Given the description of an element on the screen output the (x, y) to click on. 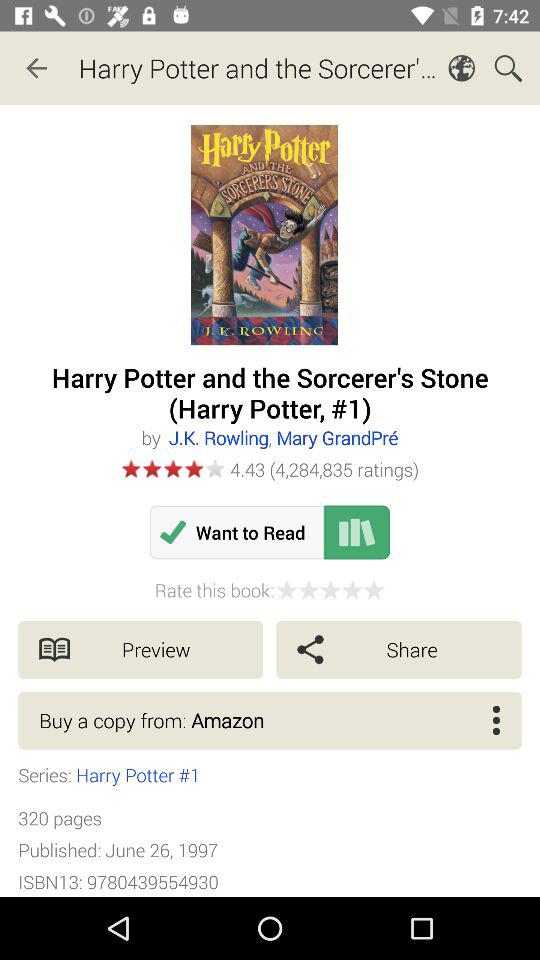
press the buy a copy item (269, 720)
